Given the description of an element on the screen output the (x, y) to click on. 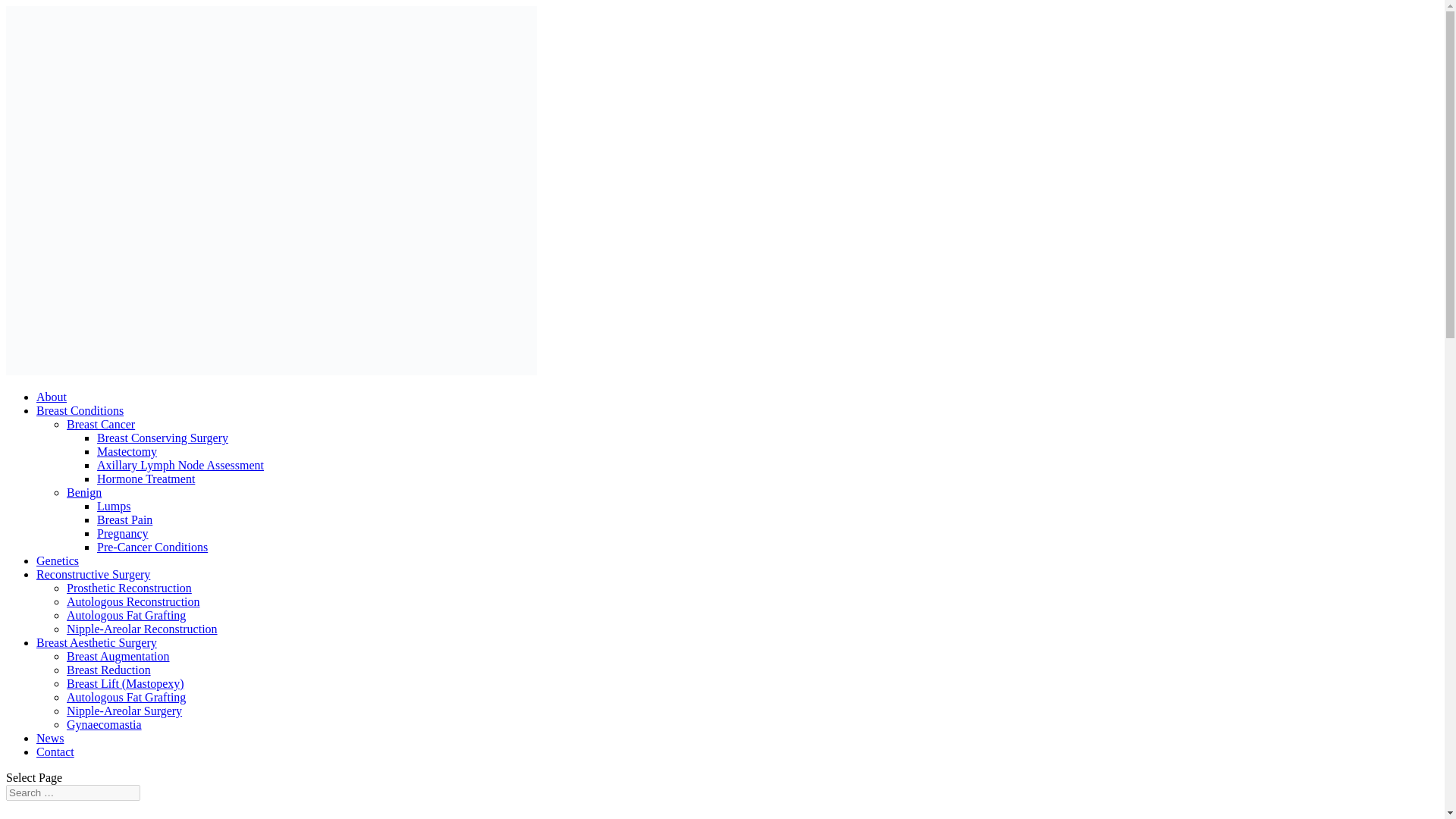
Prosthetic Reconstruction (129, 587)
Breast Aesthetic Surgery (96, 642)
Breast Conserving Surgery (162, 437)
Breast Pain (124, 519)
Lumps (114, 505)
Search for: (72, 792)
About (51, 396)
Autologous Reconstruction (133, 601)
Reconstructive Surgery (92, 574)
Autologous Fat Grafting (126, 615)
Mastectomy (127, 451)
Nipple-Areolar Surgery (124, 710)
Autologous Fat Grafting (126, 697)
Benign (83, 492)
Breast Reduction (108, 669)
